Given the description of an element on the screen output the (x, y) to click on. 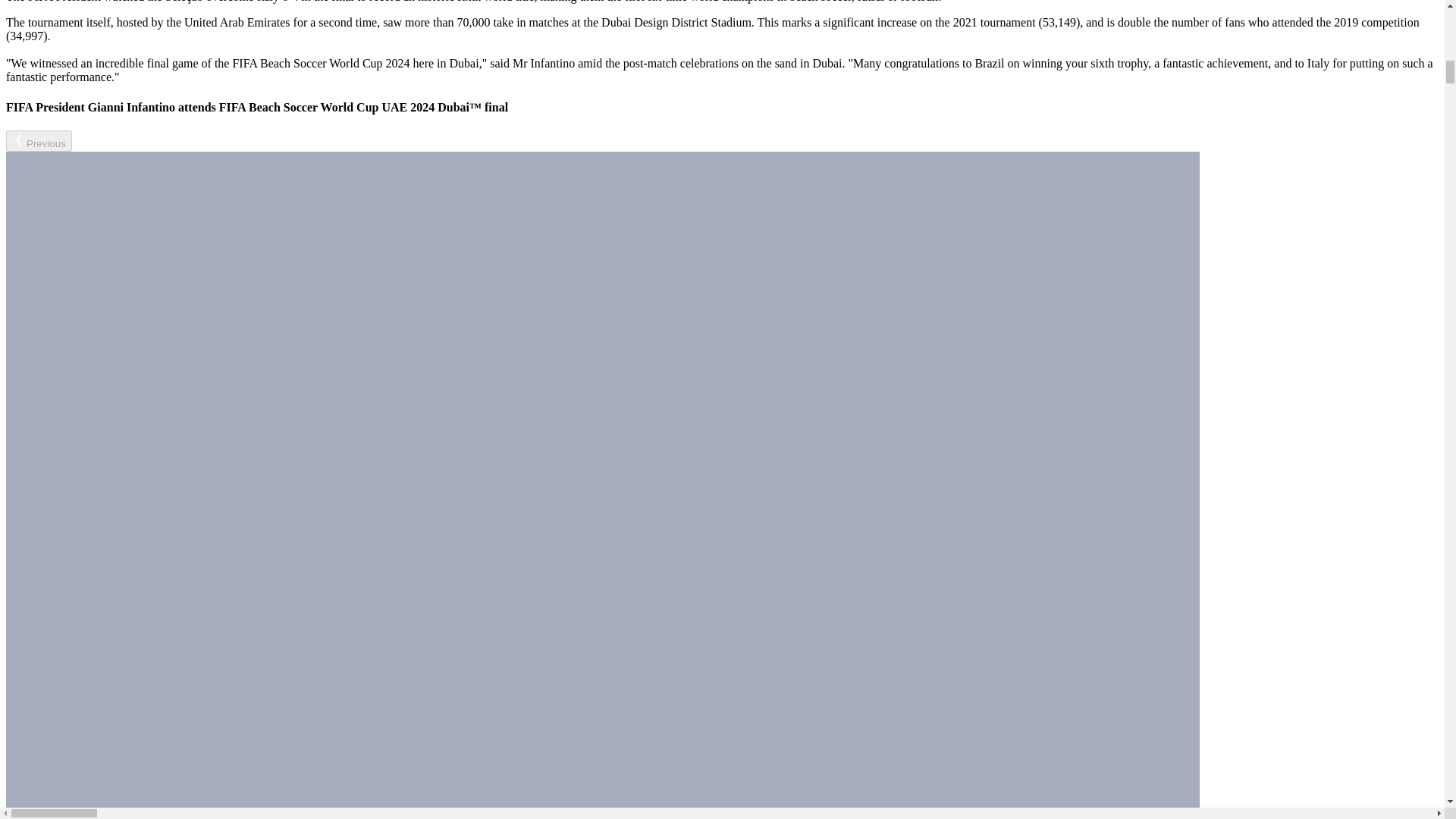
Previous (38, 140)
